Given the description of an element on the screen output the (x, y) to click on. 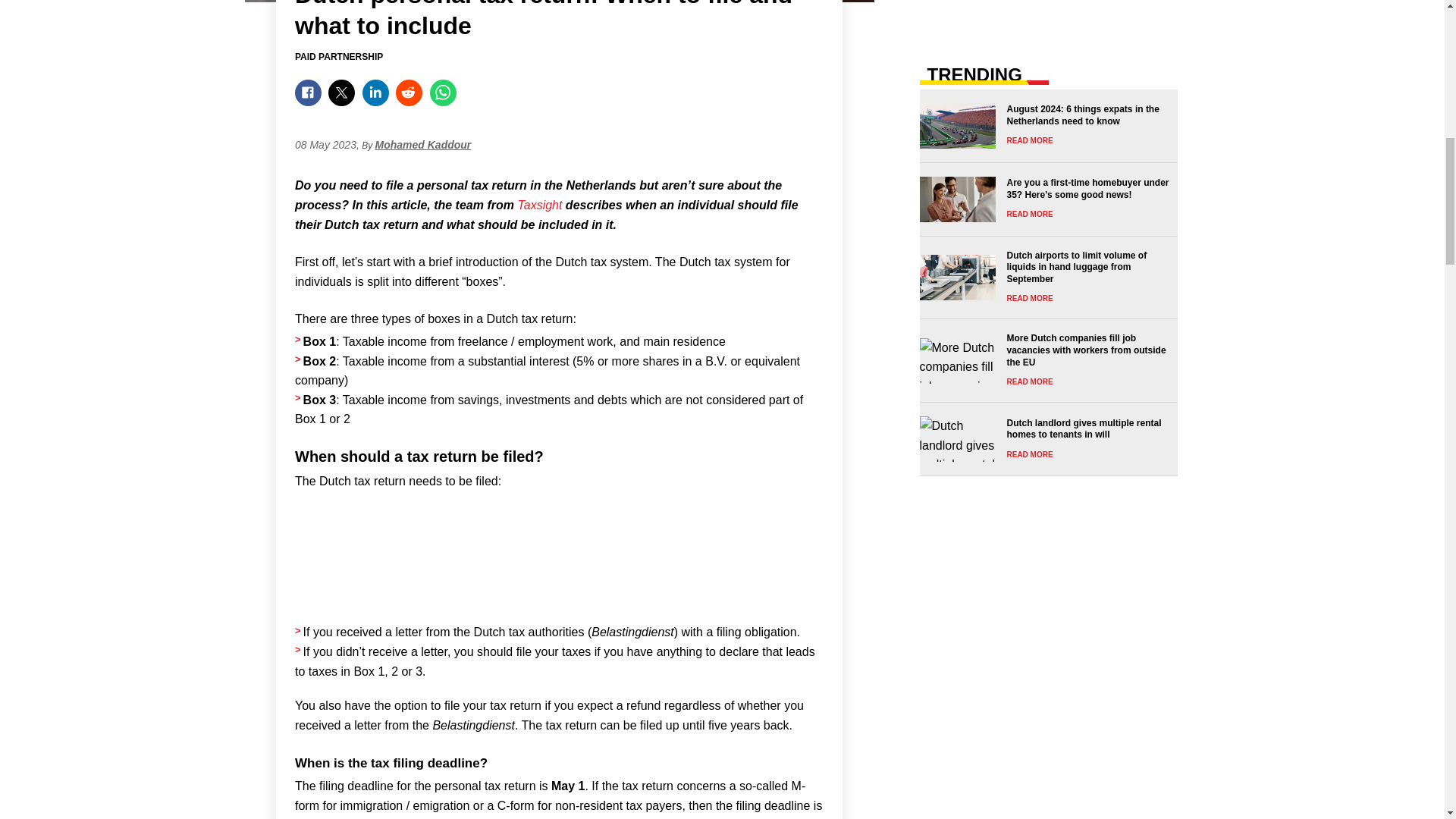
3rd party ad content (1047, 12)
August 2024: 6 things expats in the Netherlands need to know (1043, 125)
3rd party ad content (559, 565)
